Given the description of an element on the screen output the (x, y) to click on. 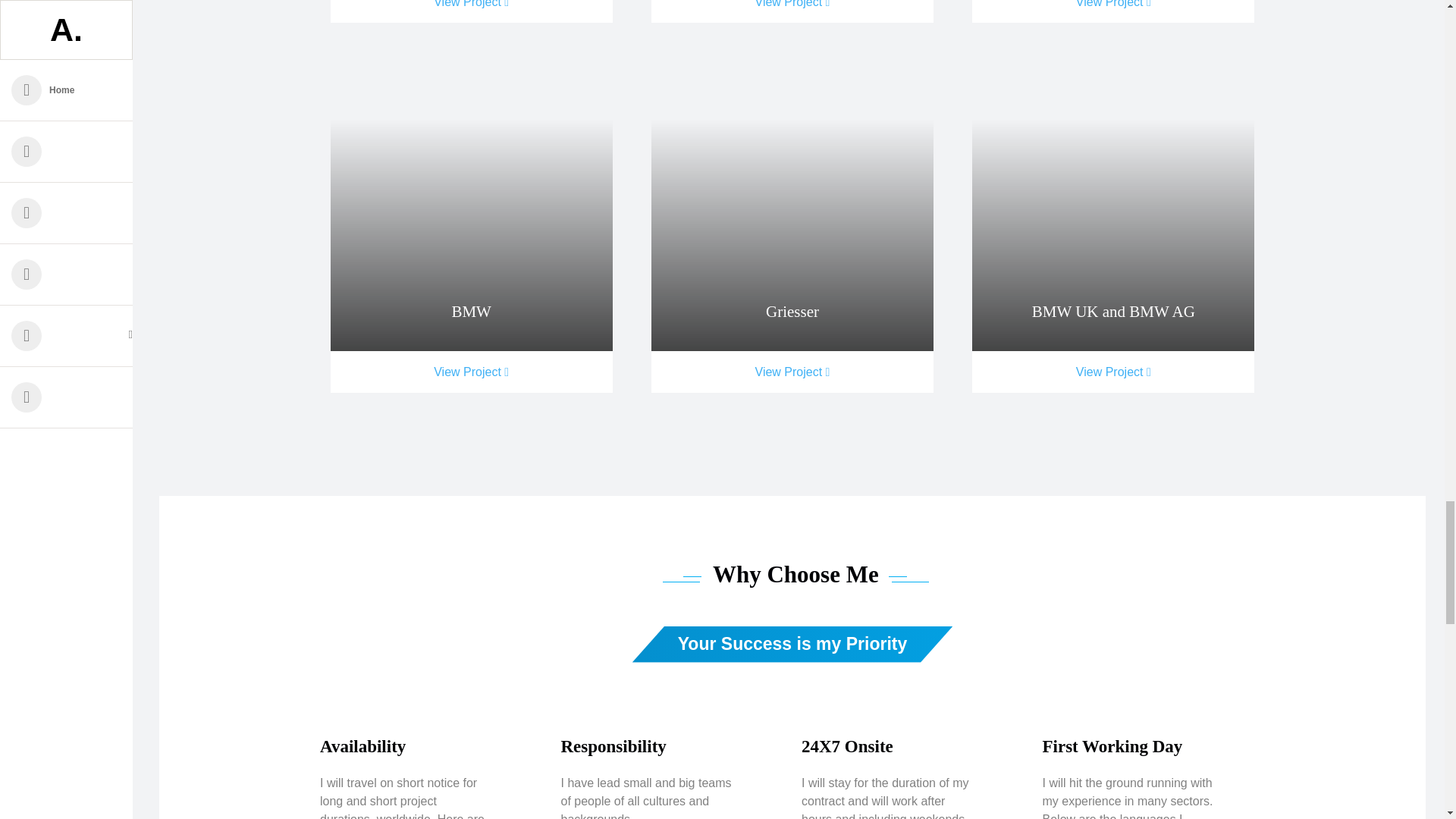
View Project (1112, 372)
View Project (471, 11)
BMW UK and BMW AG (1112, 206)
View Project (791, 372)
View Project (1112, 11)
Griesser (791, 206)
View Project (791, 11)
BMW UK and BMW AG (1113, 311)
View Project (471, 372)
BMW (471, 311)
